Given the description of an element on the screen output the (x, y) to click on. 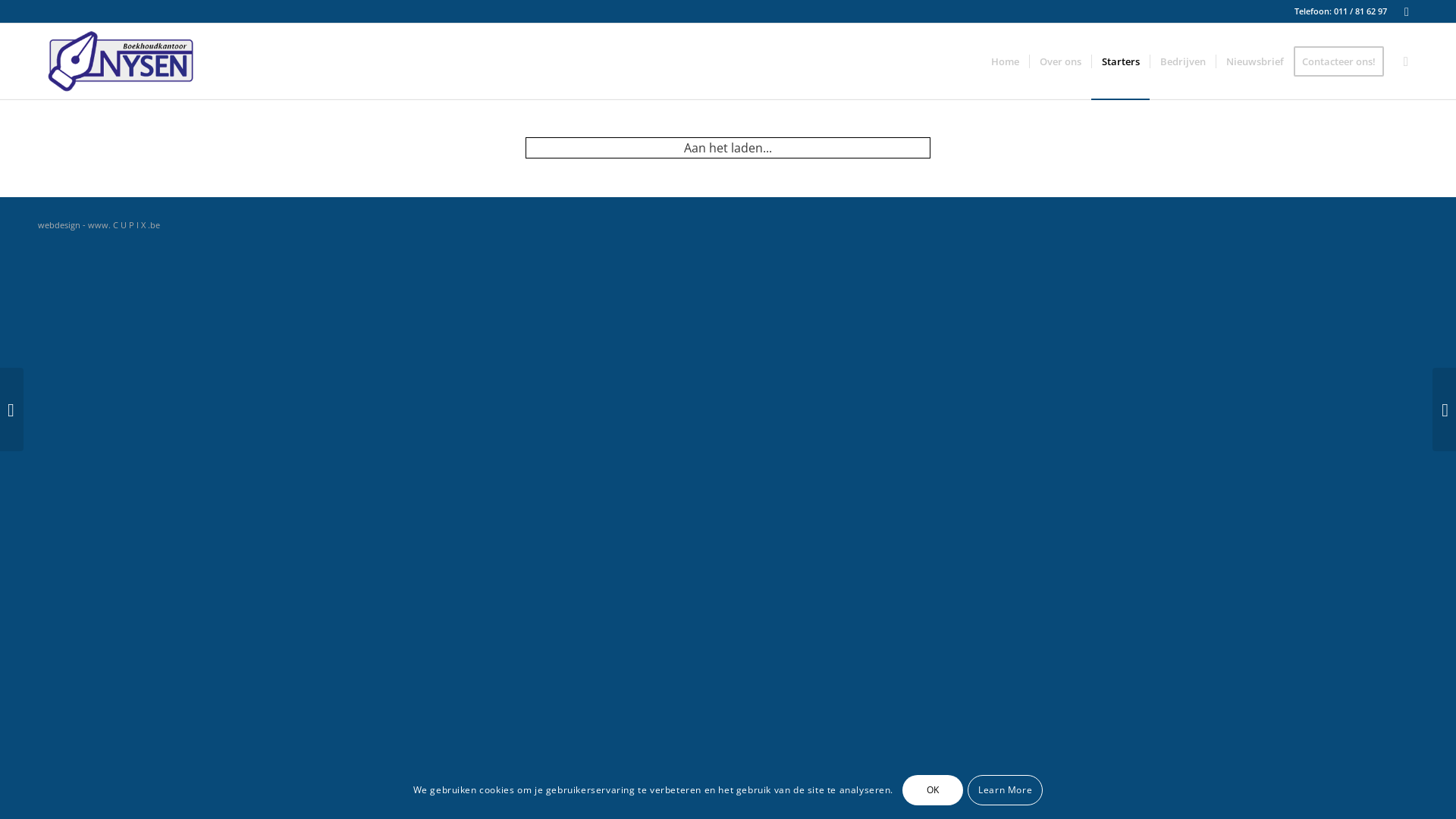
Contacteer ons! Element type: text (1343, 61)
Telefoon: 011 / 81 62 97 Element type: text (1340, 10)
Learn More Element type: text (1004, 790)
www. C U P I X .be Element type: text (123, 224)
OK Element type: text (932, 790)
Starters Element type: text (1120, 61)
Nieuwsbrief Element type: text (1254, 61)
Over ons Element type: text (1060, 61)
Bedrijven Element type: text (1182, 61)
Facebook Element type: hover (1406, 11)
boekhoudkantoor-nysen-logo Element type: hover (120, 61)
Home Element type: text (1005, 61)
